Given the description of an element on the screen output the (x, y) to click on. 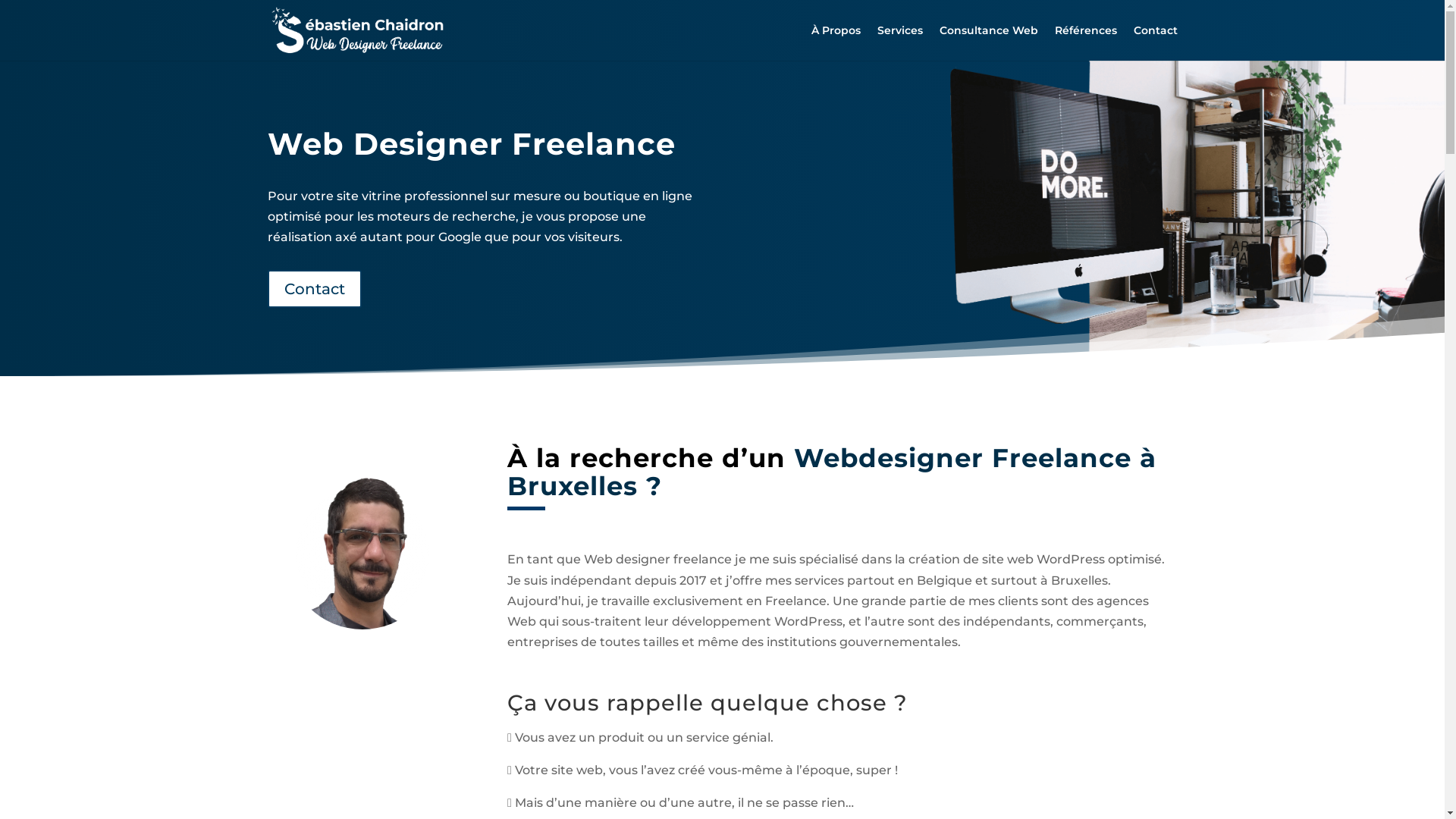
Consultance Web Element type: text (987, 42)
Contact Element type: text (1154, 42)
Contact Element type: text (313, 288)
Services Element type: text (899, 42)
